Given the description of an element on the screen output the (x, y) to click on. 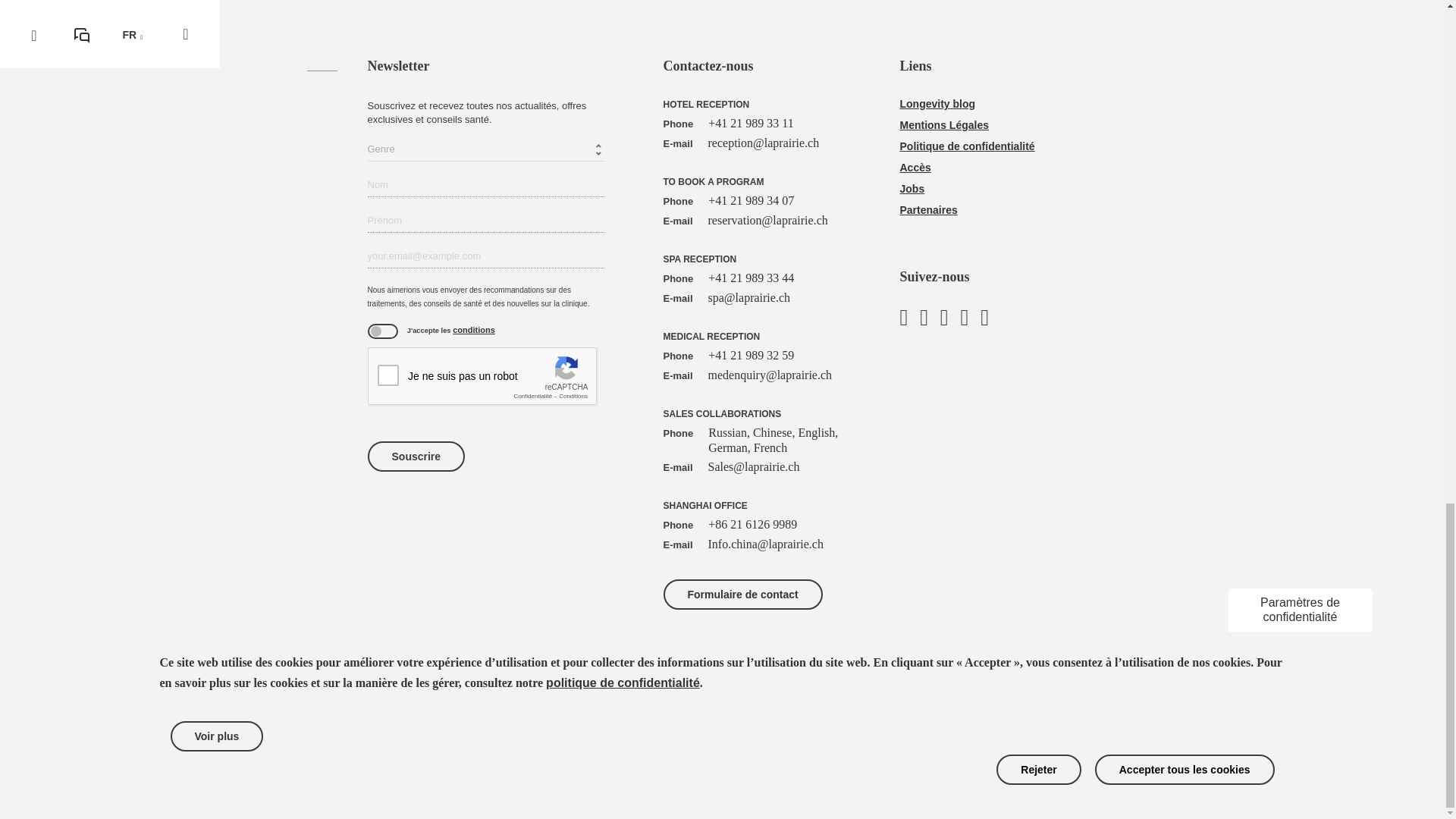
reCAPTCHA (481, 376)
Souscrire (415, 456)
